Given the description of an element on the screen output the (x, y) to click on. 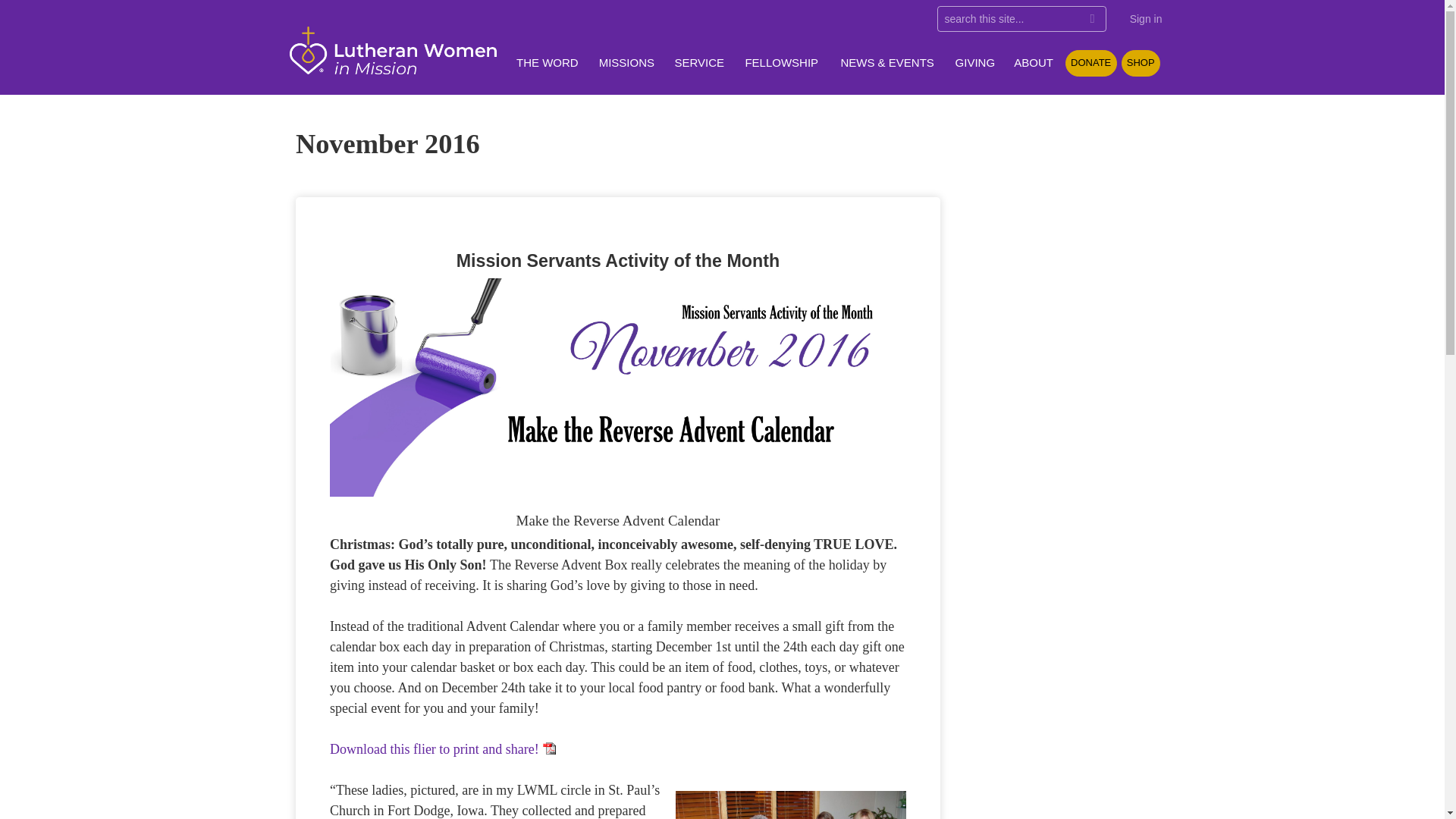
Sign in (1145, 19)
